Given the description of an element on the screen output the (x, y) to click on. 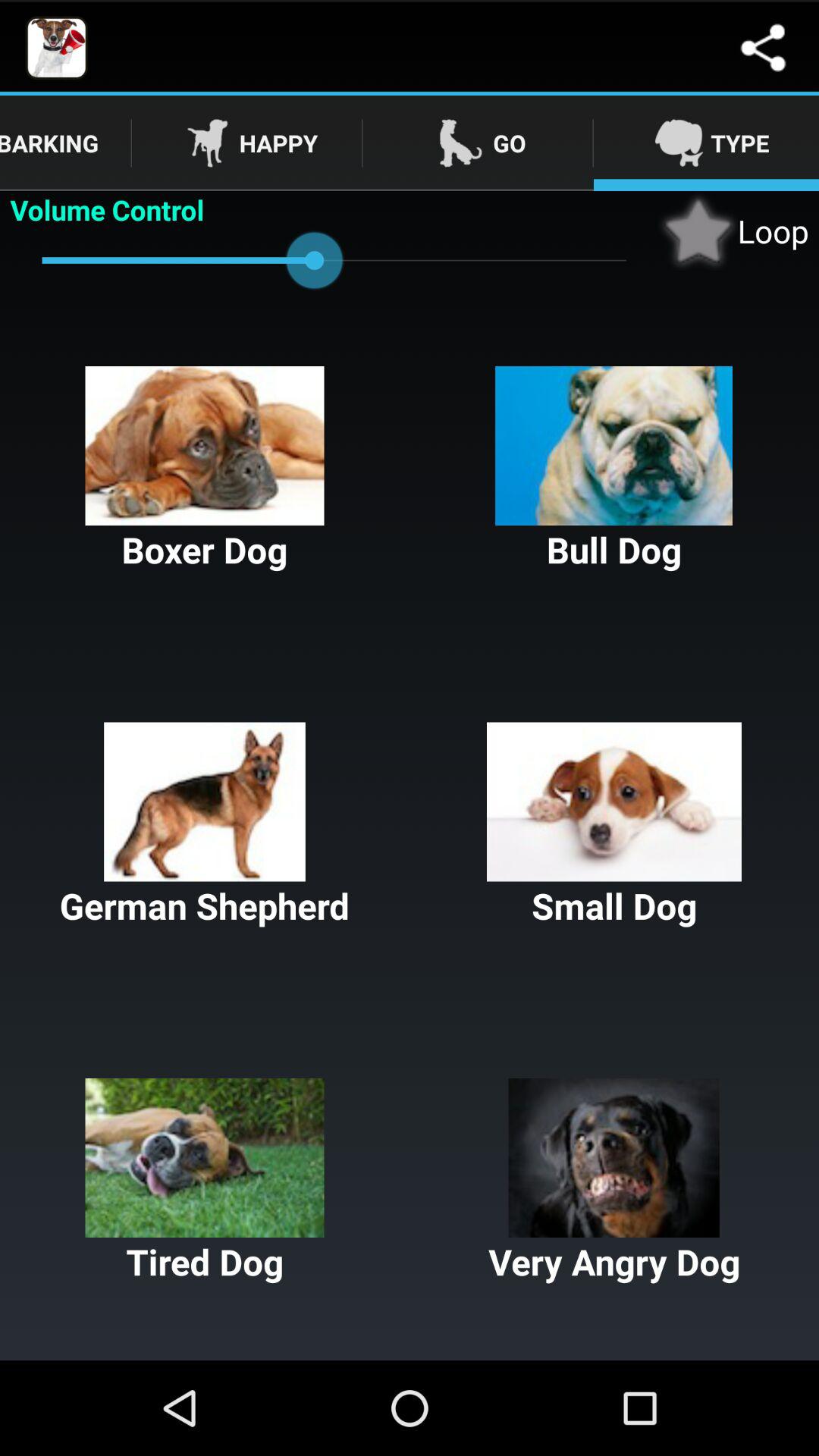
turn off the loop icon (733, 230)
